Given the description of an element on the screen output the (x, y) to click on. 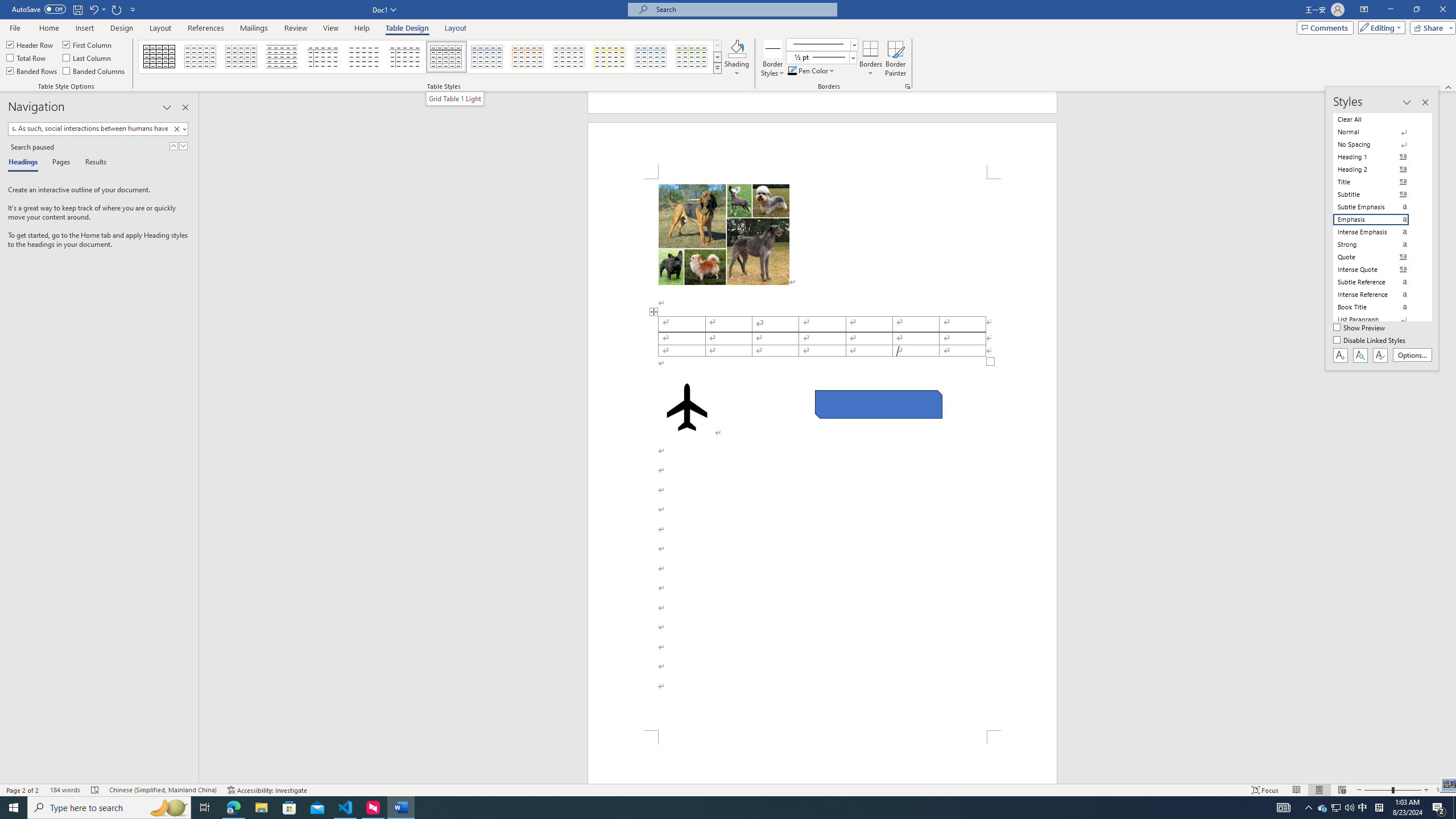
Total Row (26, 56)
Intense Quote (1377, 269)
First Column (88, 44)
Options... (1412, 354)
Grid Table 1 Light - Accent 6 (691, 56)
Show Preview (1360, 328)
Undo Style (96, 9)
Border Styles (773, 48)
